Given the description of an element on the screen output the (x, y) to click on. 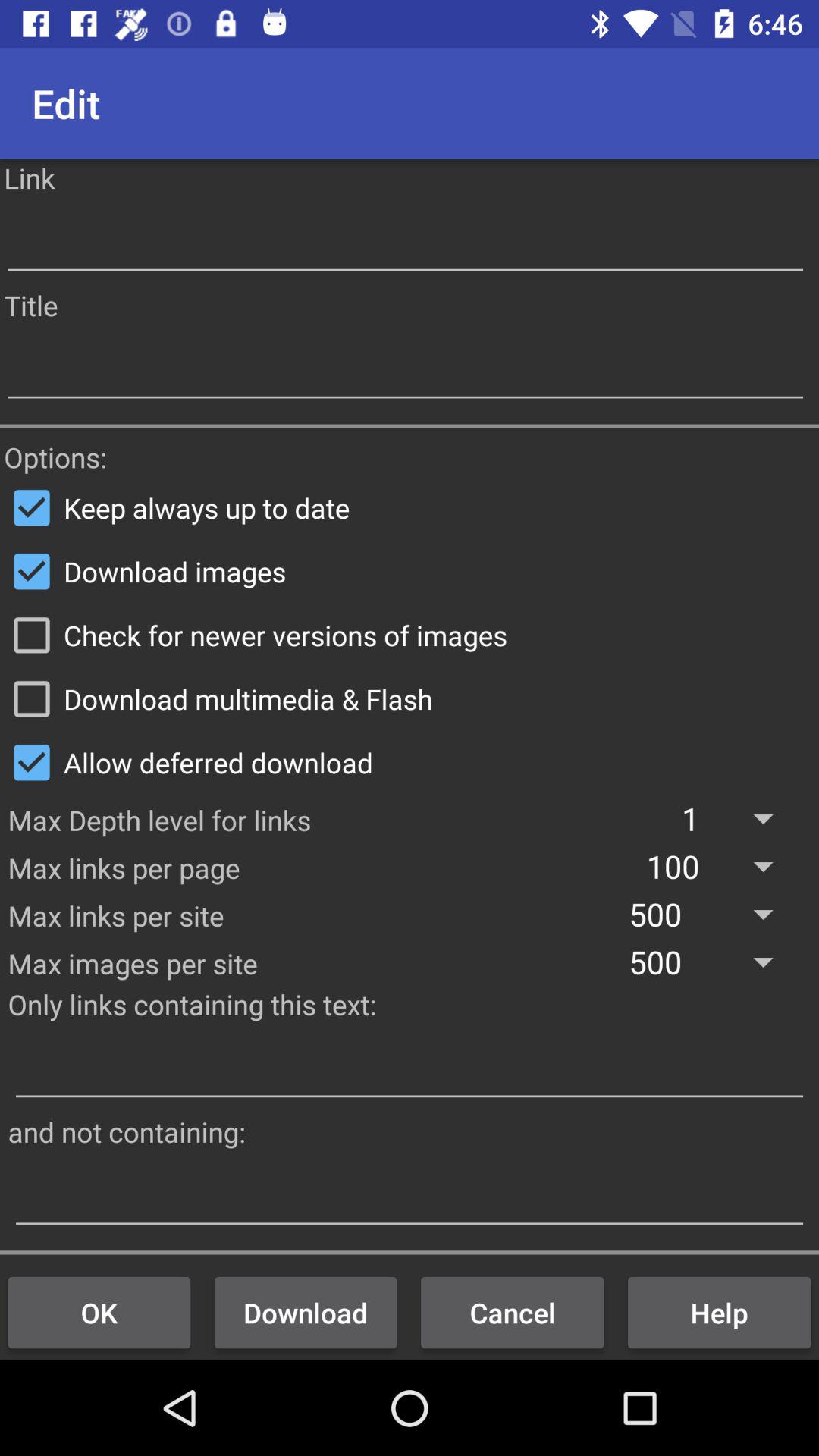
click the checkbox below download images item (409, 635)
